Given the description of an element on the screen output the (x, y) to click on. 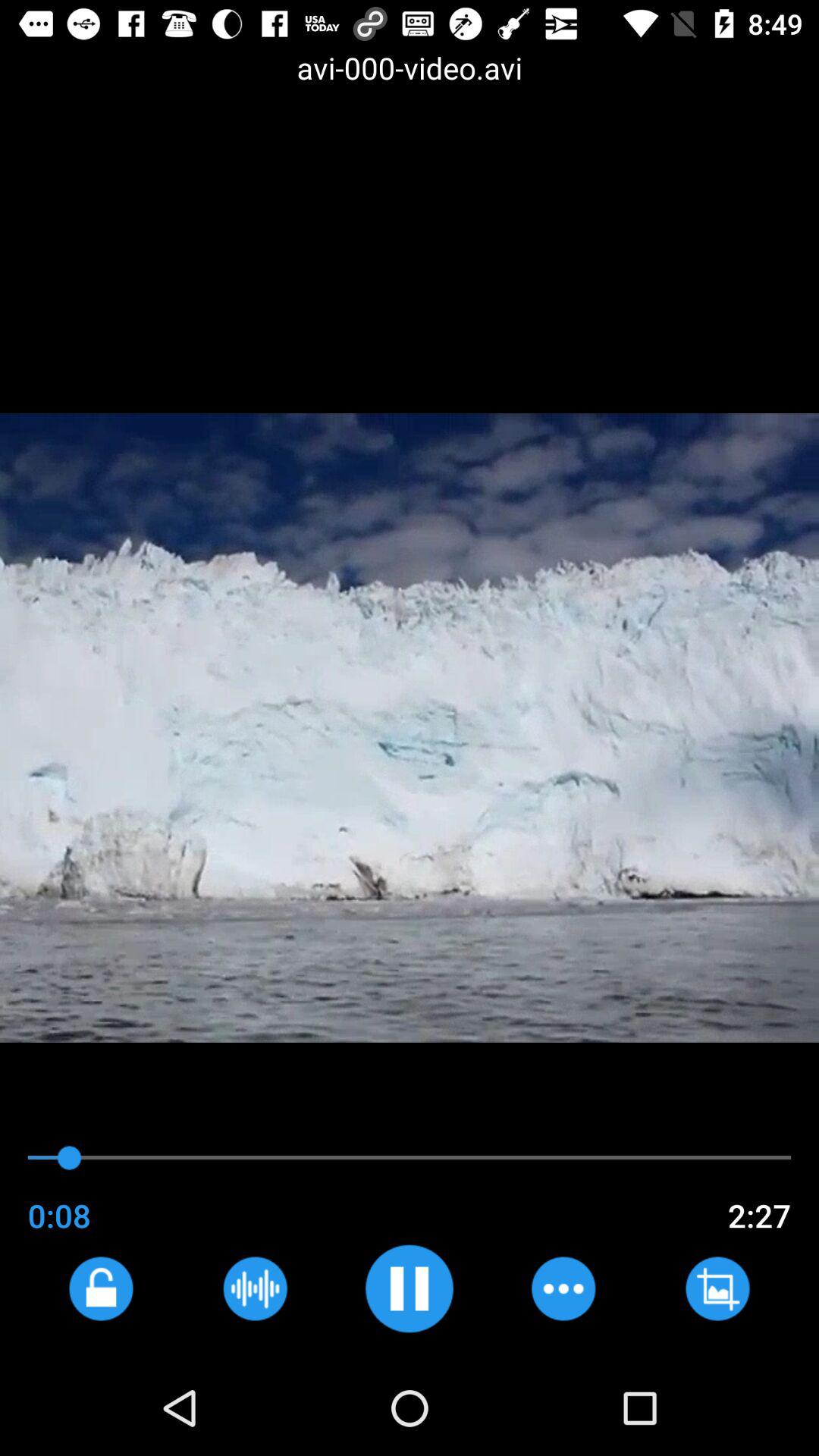
play button (409, 1288)
